Given the description of an element on the screen output the (x, y) to click on. 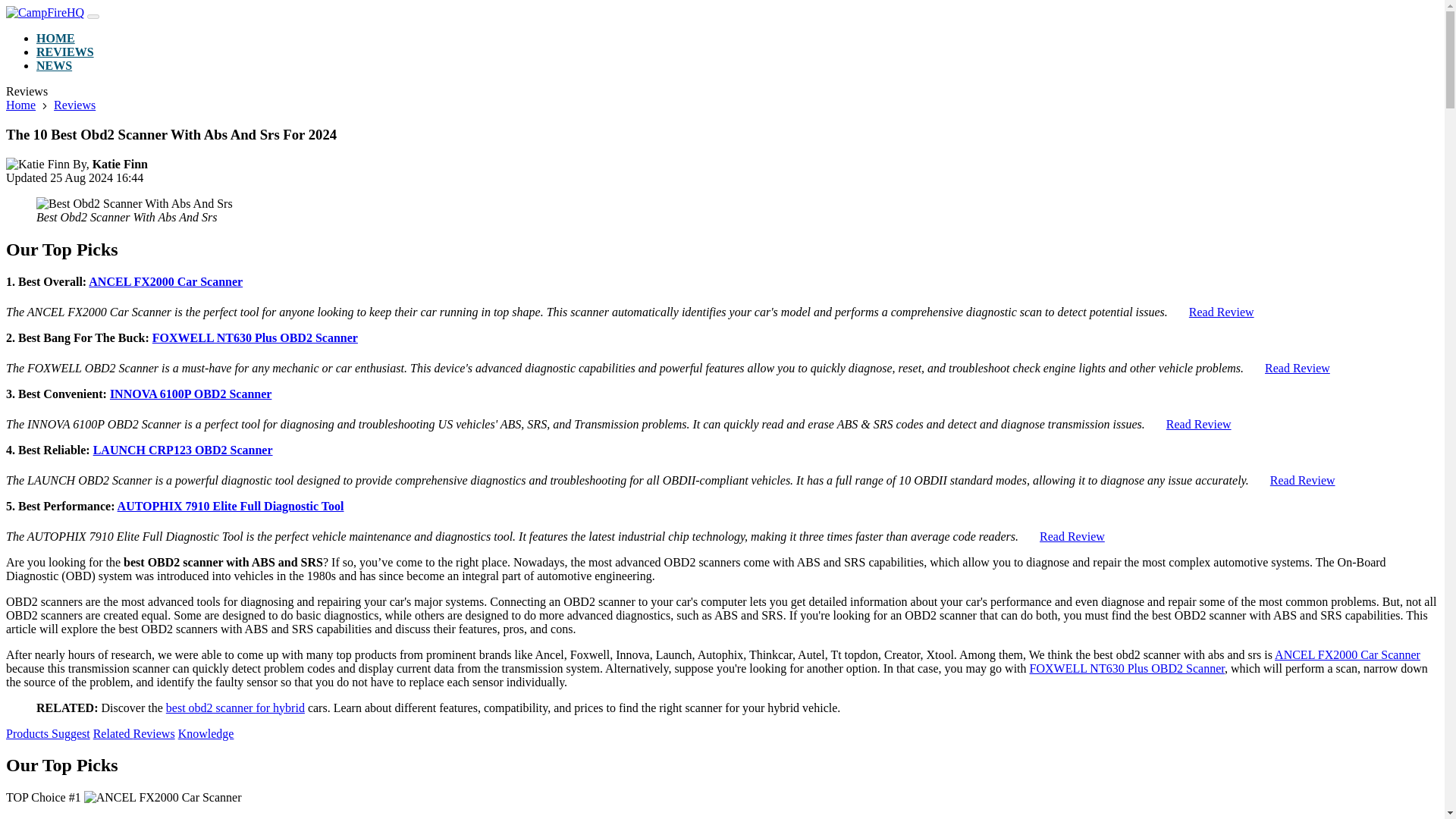
Home (19, 104)
ANCEL FX2000 Car Scanner (1348, 654)
Reviews (74, 104)
Read Review (1297, 367)
ANCEL FX2000 Car Scanner (165, 281)
Read Review (1302, 480)
Related Reviews (133, 733)
AUTOPHIX 7910 Elite Full Diagnostic Tool (230, 505)
Knowledge (205, 733)
News (53, 65)
